Given the description of an element on the screen output the (x, y) to click on. 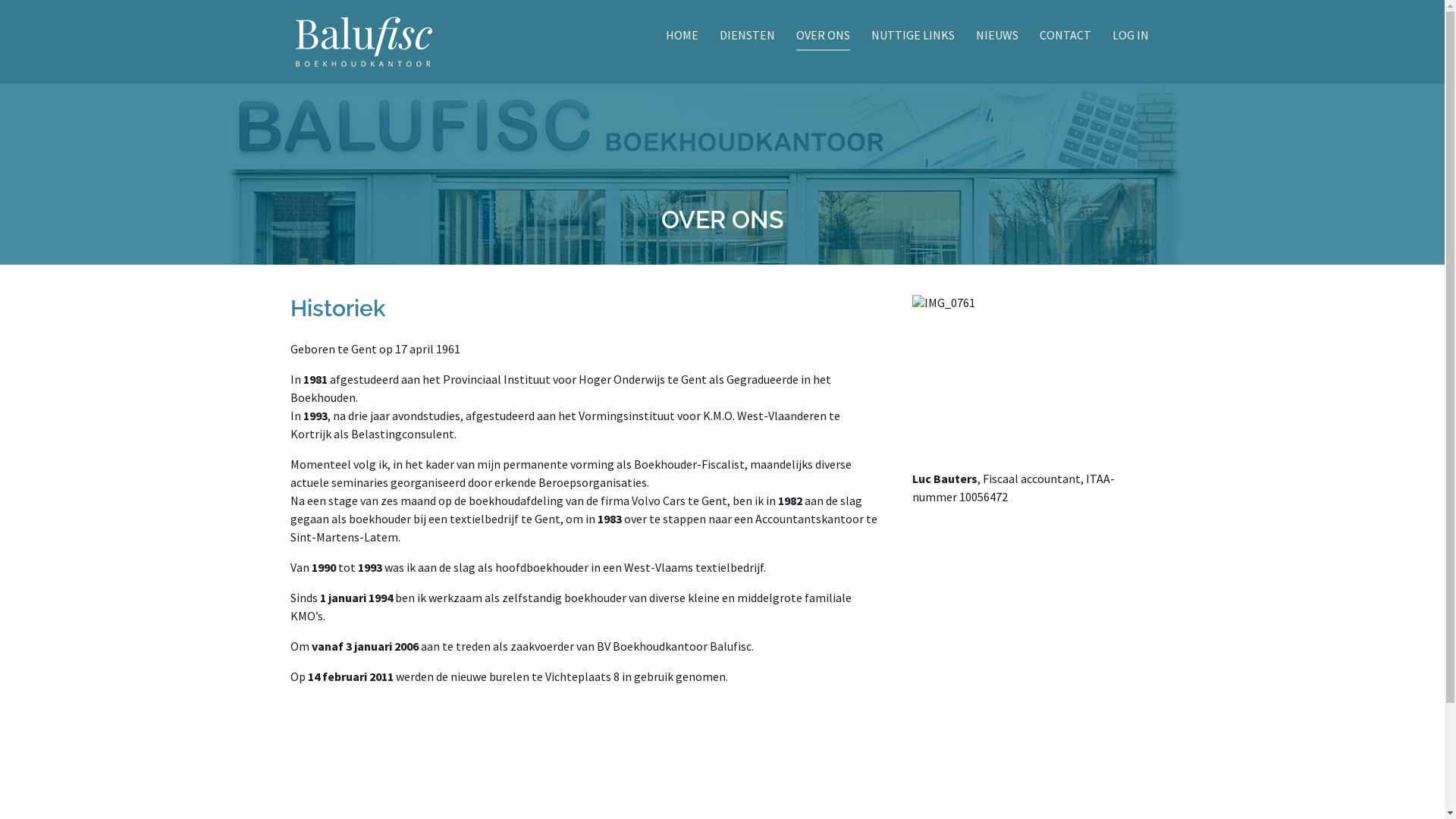
LOG IN Element type: text (1130, 38)
CONTACT Element type: text (1065, 38)
NUTTIGE LINKS Element type: text (912, 38)
DIENSTEN Element type: text (747, 38)
NIEUWS Element type: text (996, 38)
OVER ONS Element type: text (823, 38)
HOME Element type: text (681, 38)
